Given the description of an element on the screen output the (x, y) to click on. 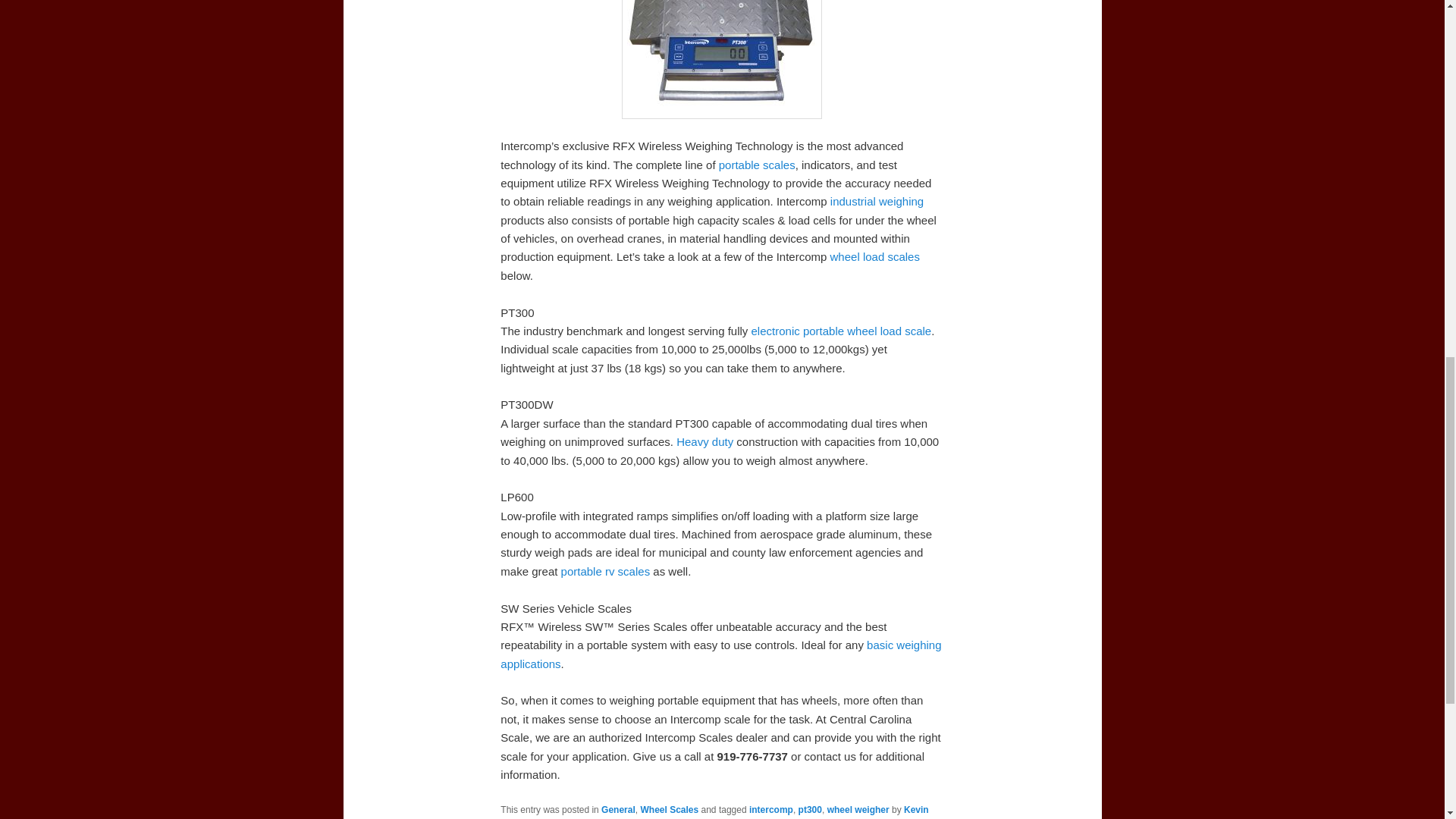
Wheel Scales (669, 809)
Kevin Lamberth (714, 811)
portable rv scales (605, 571)
industrial weighing (876, 201)
basic weighing applications (720, 653)
Heavy duty (705, 440)
wheel load scales (874, 256)
General (617, 809)
electronic portable wheel load scale (841, 330)
pt300 (809, 809)
